Given the description of an element on the screen output the (x, y) to click on. 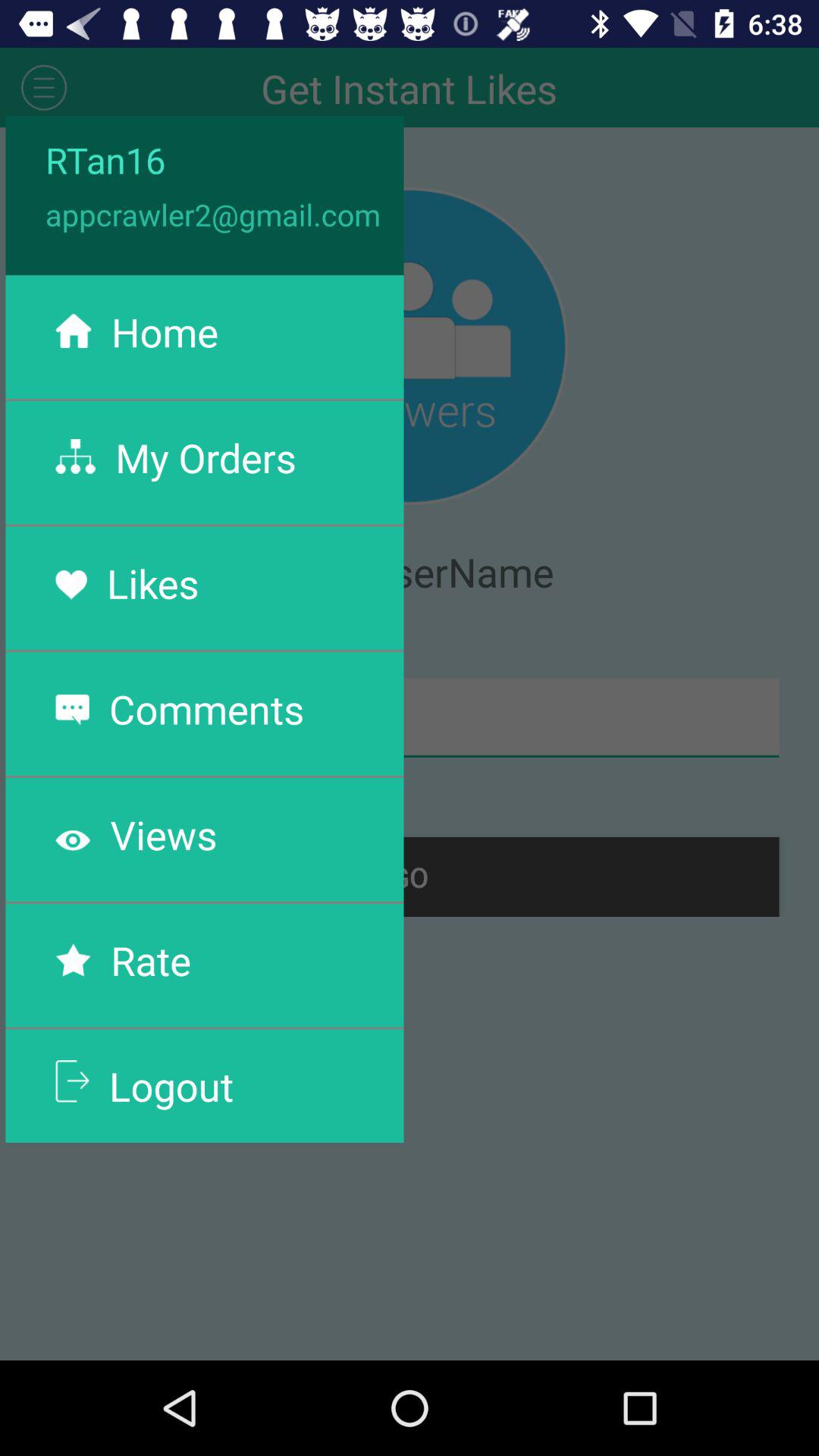
select the my orders item (205, 457)
